Given the description of an element on the screen output the (x, y) to click on. 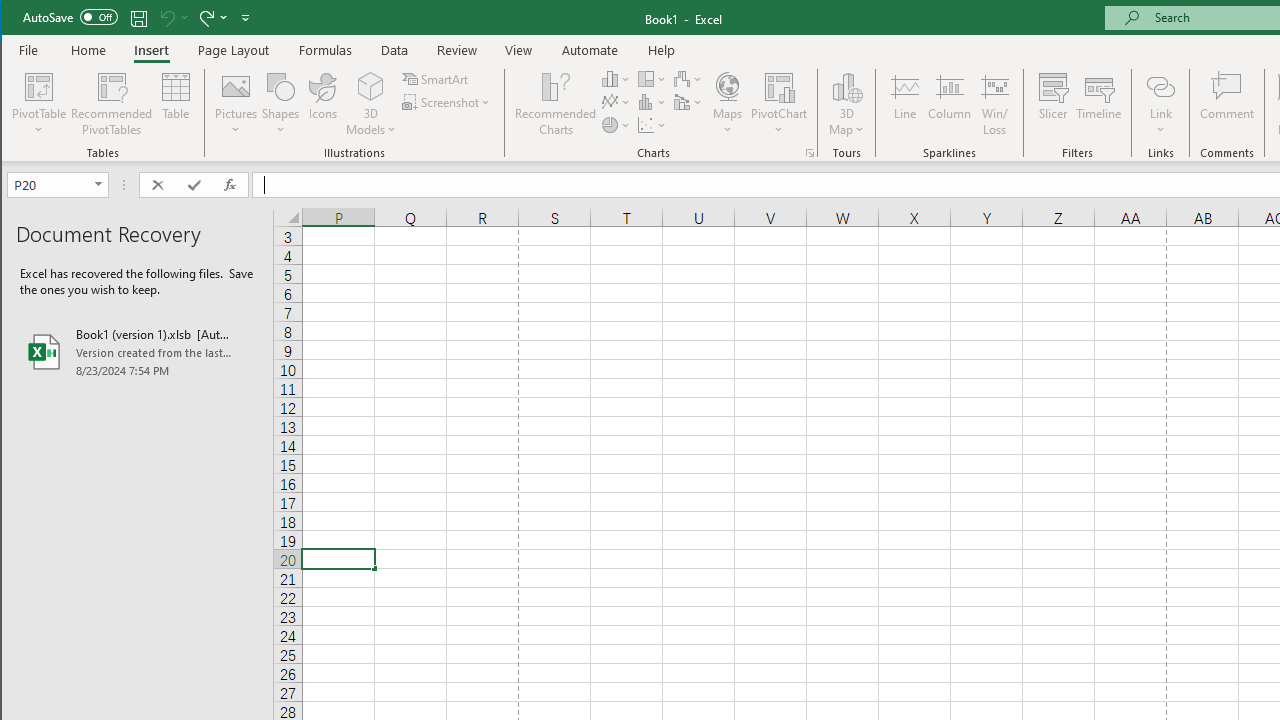
Line (904, 104)
File Tab (29, 49)
3D Models (371, 86)
Column (949, 104)
SmartArt... (436, 78)
Pictures (235, 104)
Recommended Charts (809, 152)
Customize Quick Access Toolbar (245, 17)
PivotTable (39, 104)
Open (99, 184)
3D Map (846, 86)
Home (88, 50)
